Given the description of an element on the screen output the (x, y) to click on. 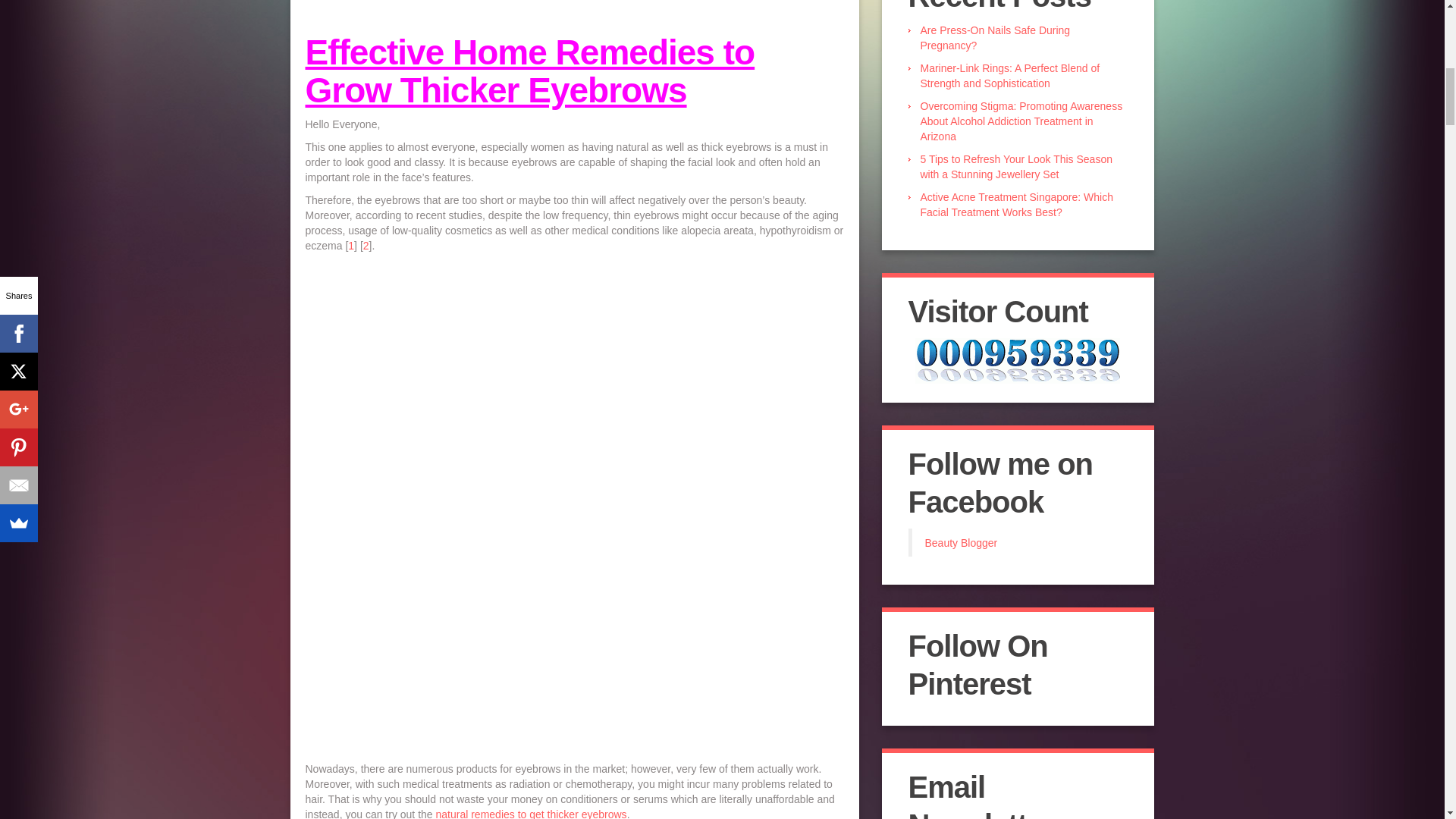
natural remedies to get thicker eyebrows (530, 813)
